Given the description of an element on the screen output the (x, y) to click on. 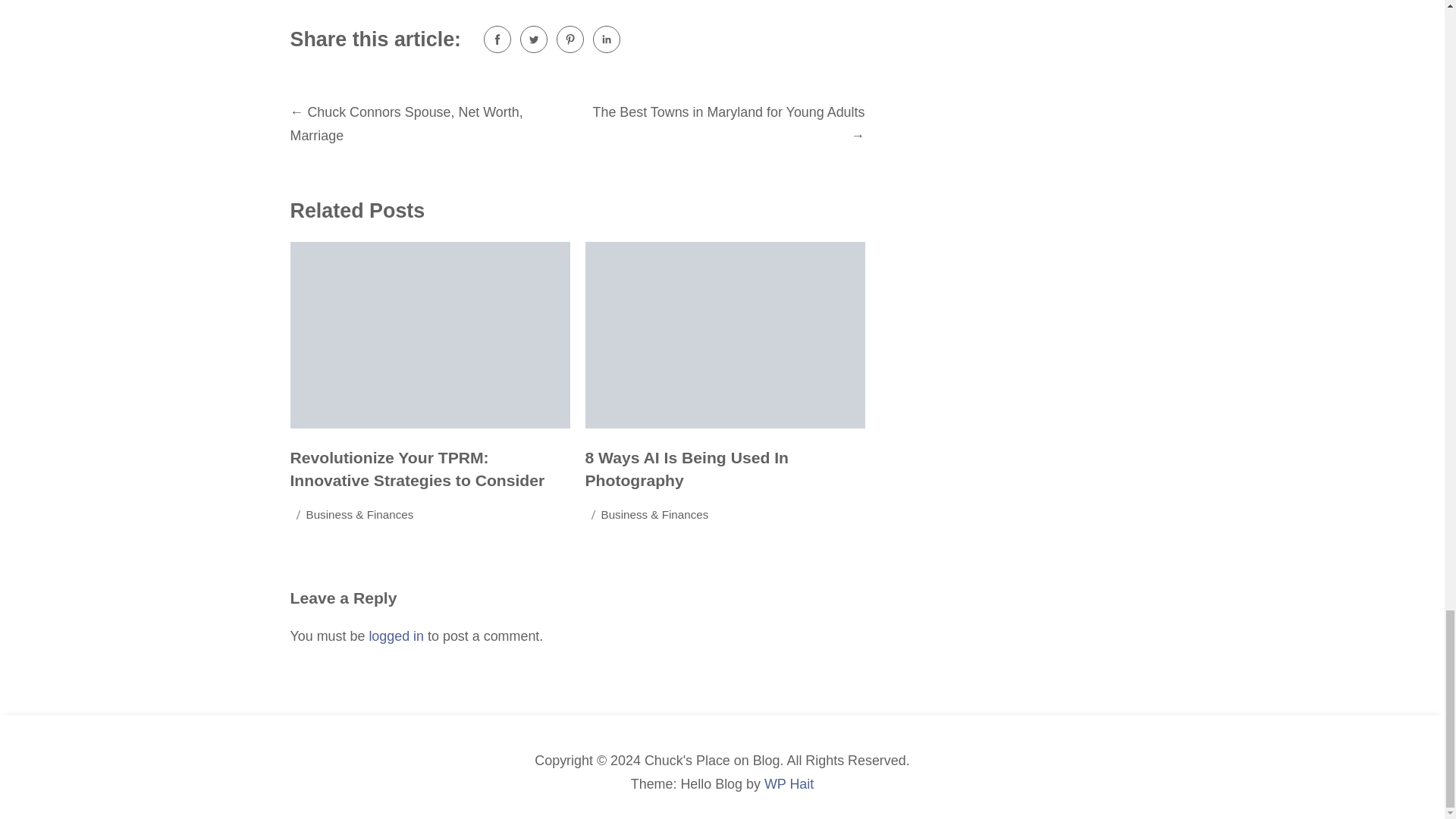
Revolutionize Your TPRM: Innovative Strategies to Consider (416, 468)
8 Ways AI Is Being Used In Photography (687, 468)
logged in (395, 635)
